Given the description of an element on the screen output the (x, y) to click on. 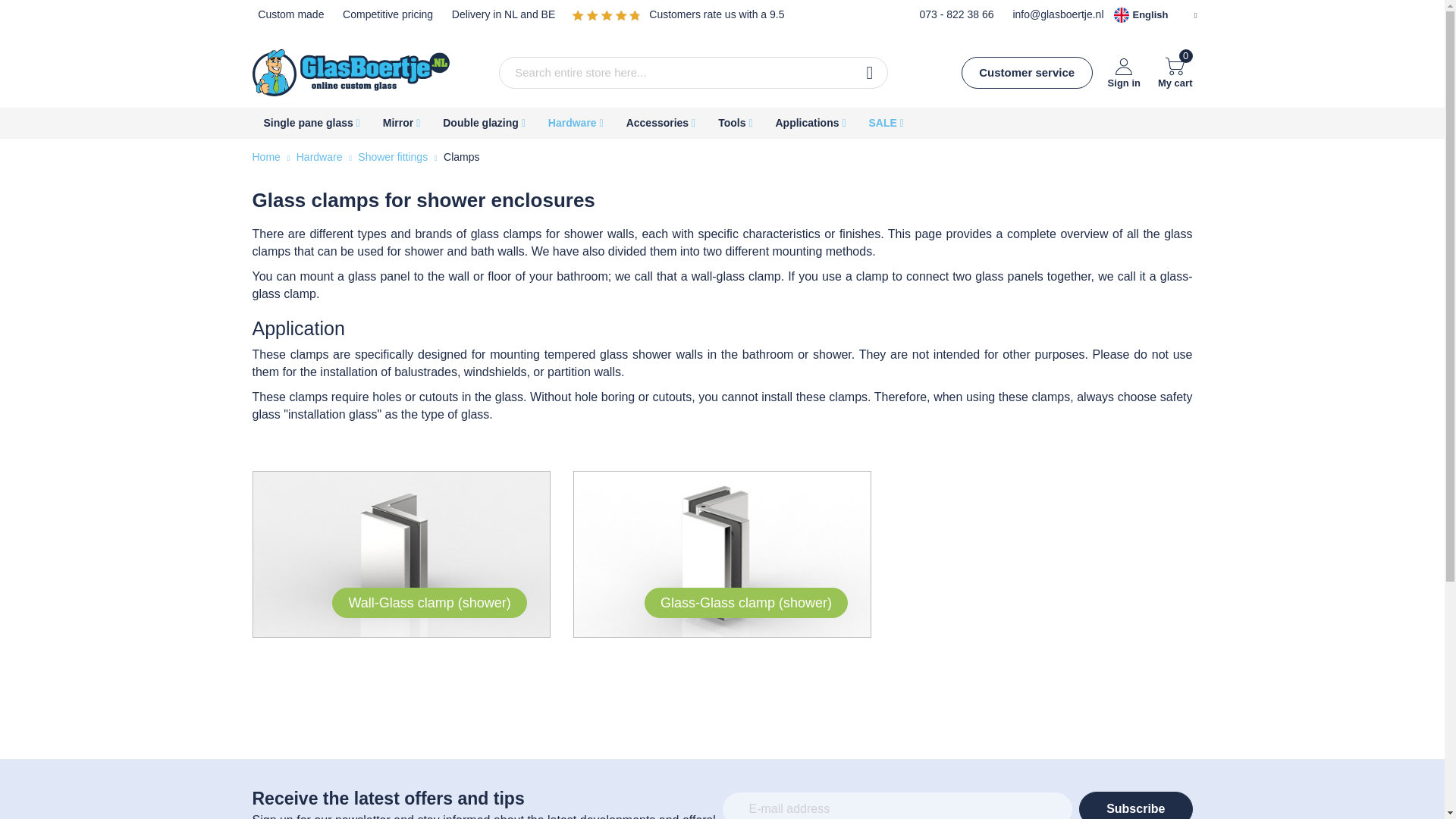
Glasboertje Logo (349, 72)
Single pane glass (311, 122)
073 - 822 38 66 (955, 14)
Customers rate us with a 9.5 (716, 14)
Go to Home Page (266, 156)
Sign in (1174, 71)
Customer service (1124, 71)
Subscribe (1026, 72)
